Given the description of an element on the screen output the (x, y) to click on. 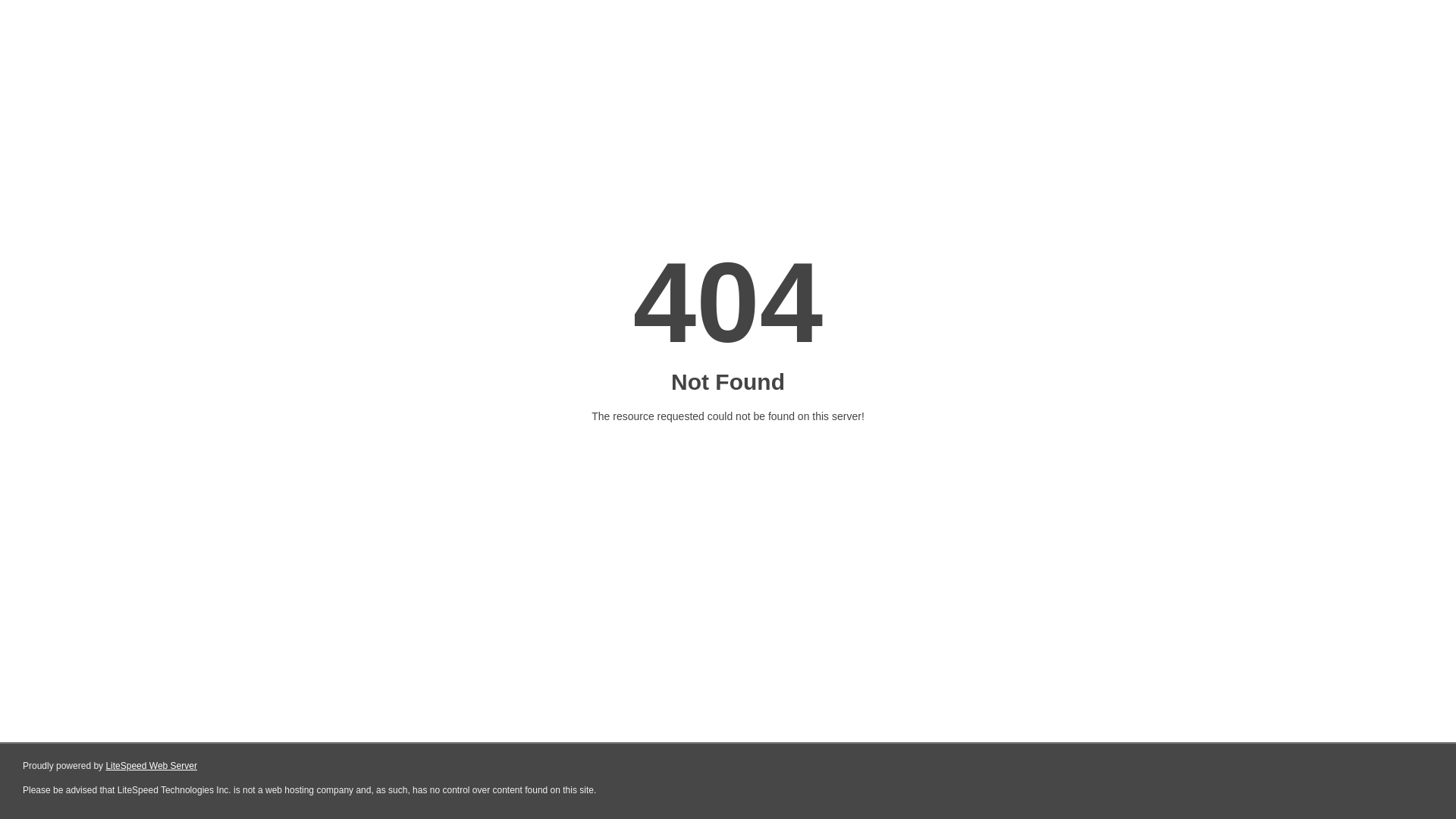
LiteSpeed Web Server Element type: text (151, 765)
